Given the description of an element on the screen output the (x, y) to click on. 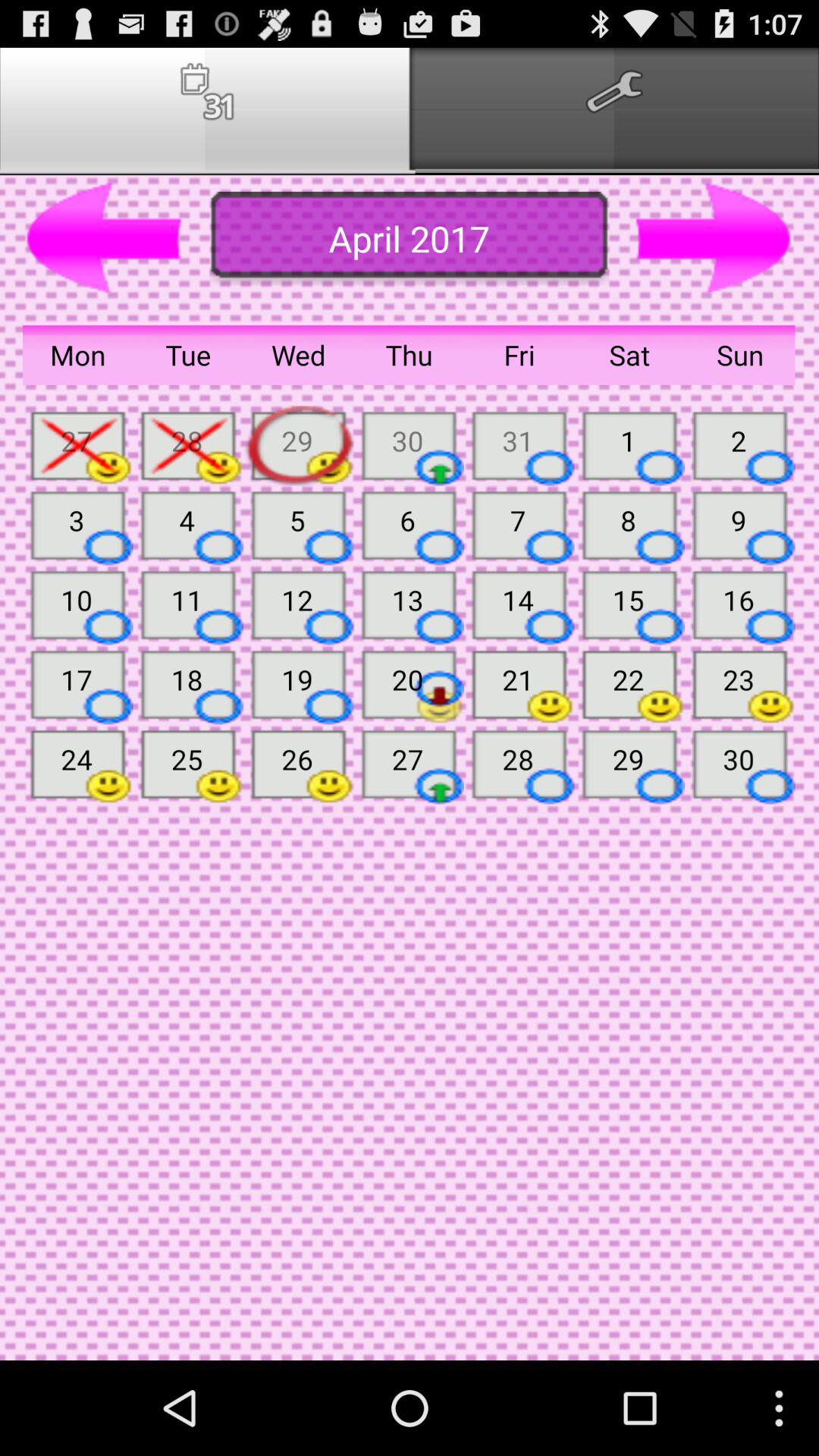
toggle autoplay option (714, 238)
